Given the description of an element on the screen output the (x, y) to click on. 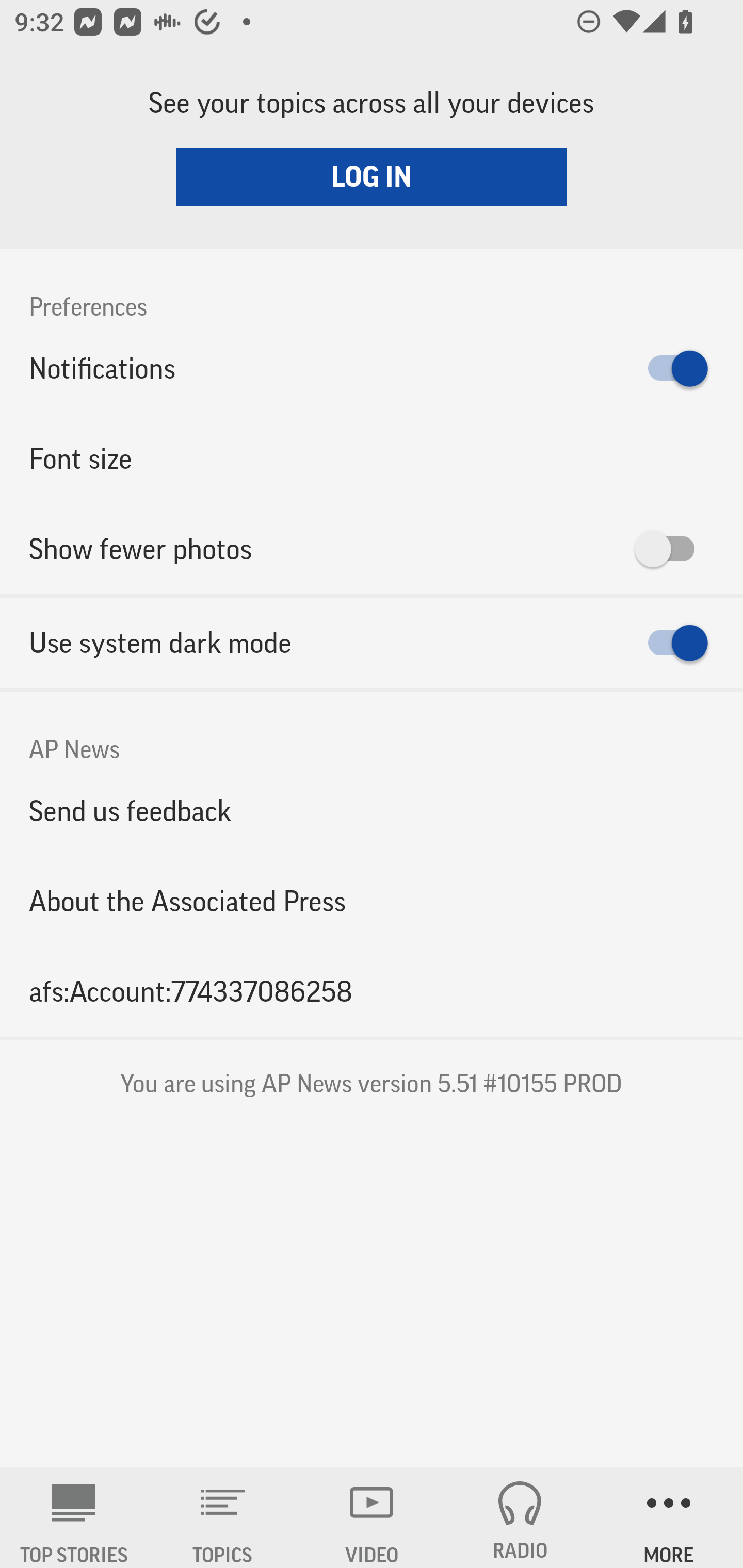
LOG IN (371, 176)
Notifications (371, 368)
Font size (371, 458)
Show fewer photos (371, 548)
Use system dark mode (371, 642)
Send us feedback (371, 810)
About the Associated Press (371, 901)
afs:Account:774337086258 (371, 991)
AP News TOP STORIES (74, 1517)
TOPICS (222, 1517)
VIDEO (371, 1517)
RADIO (519, 1517)
MORE (668, 1517)
